Given the description of an element on the screen output the (x, y) to click on. 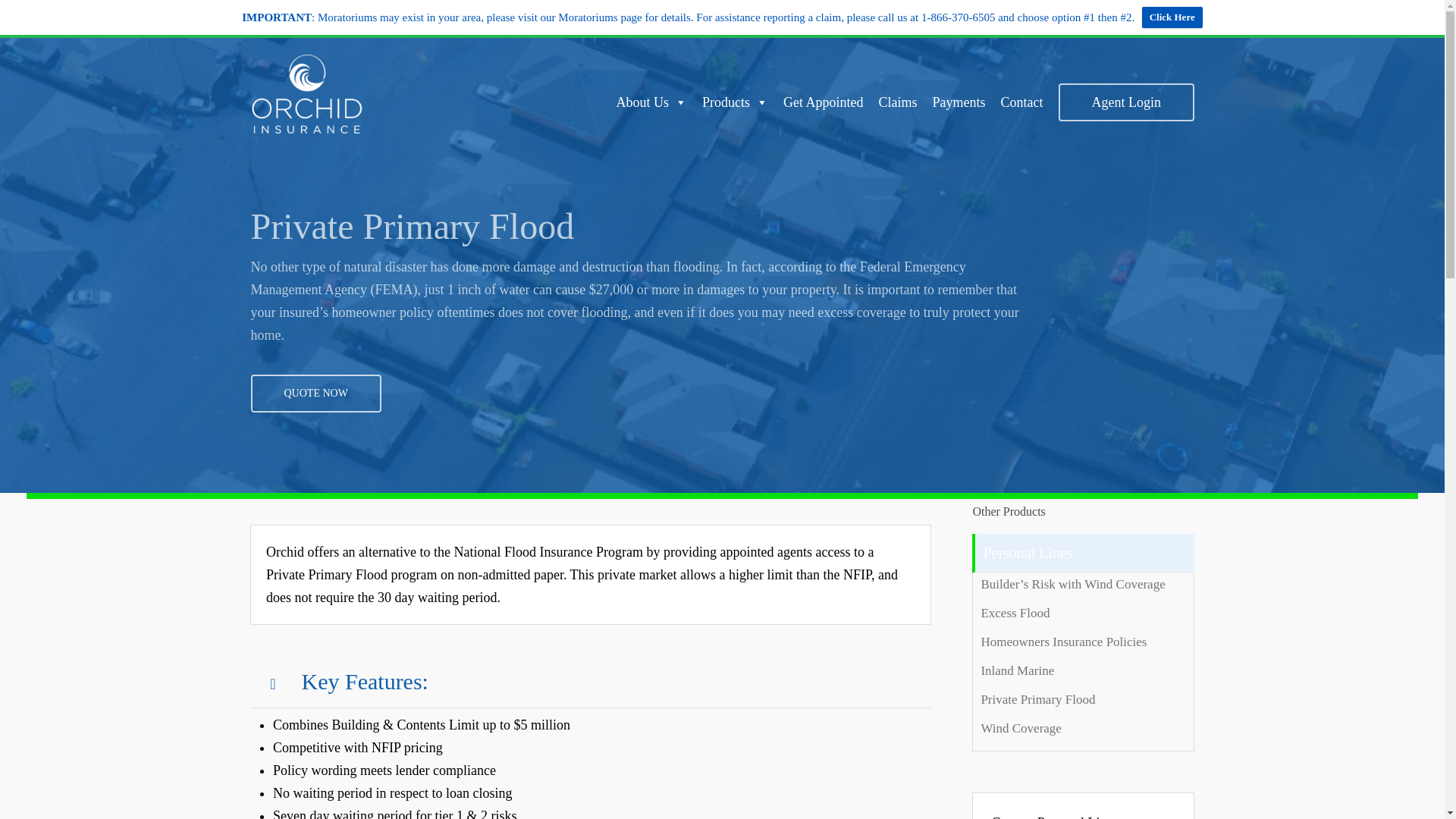
Products (735, 102)
About Us (651, 102)
Click Here (1171, 16)
FAQ (1101, 11)
1-866-370-6505 (1045, 11)
